Given the description of an element on the screen output the (x, y) to click on. 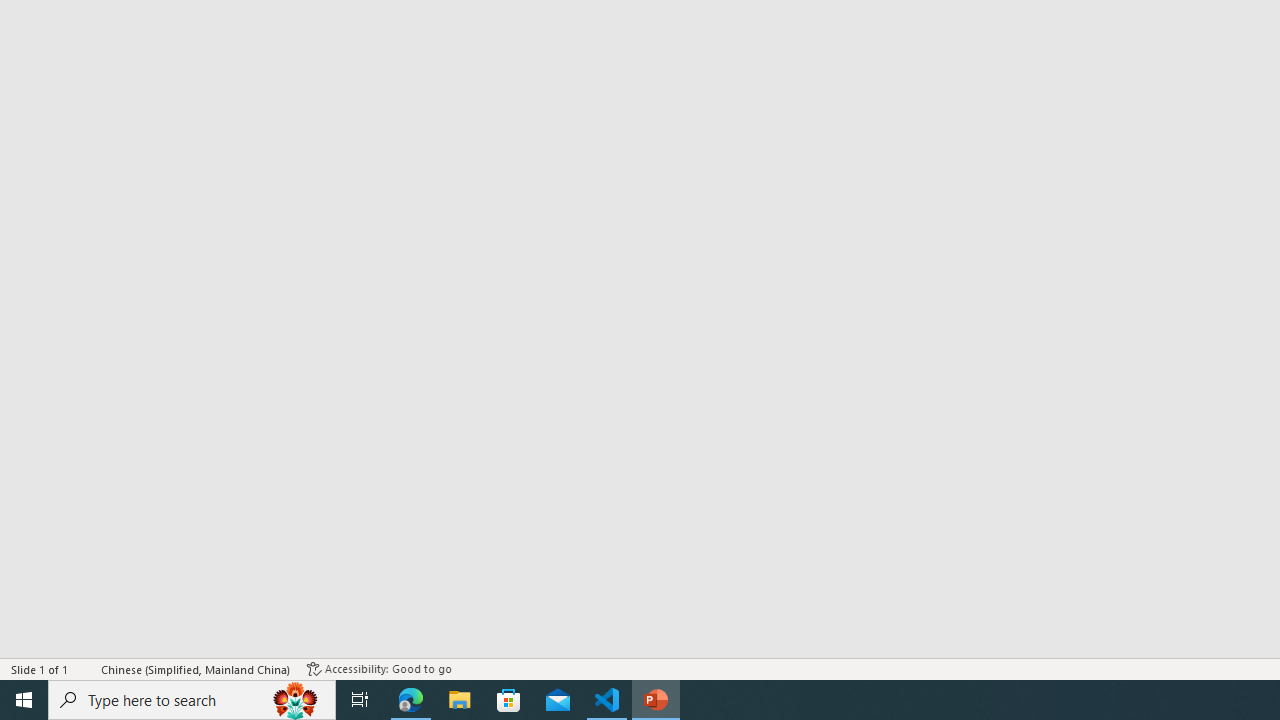
Spell Check  (86, 668)
